Given the description of an element on the screen output the (x, y) to click on. 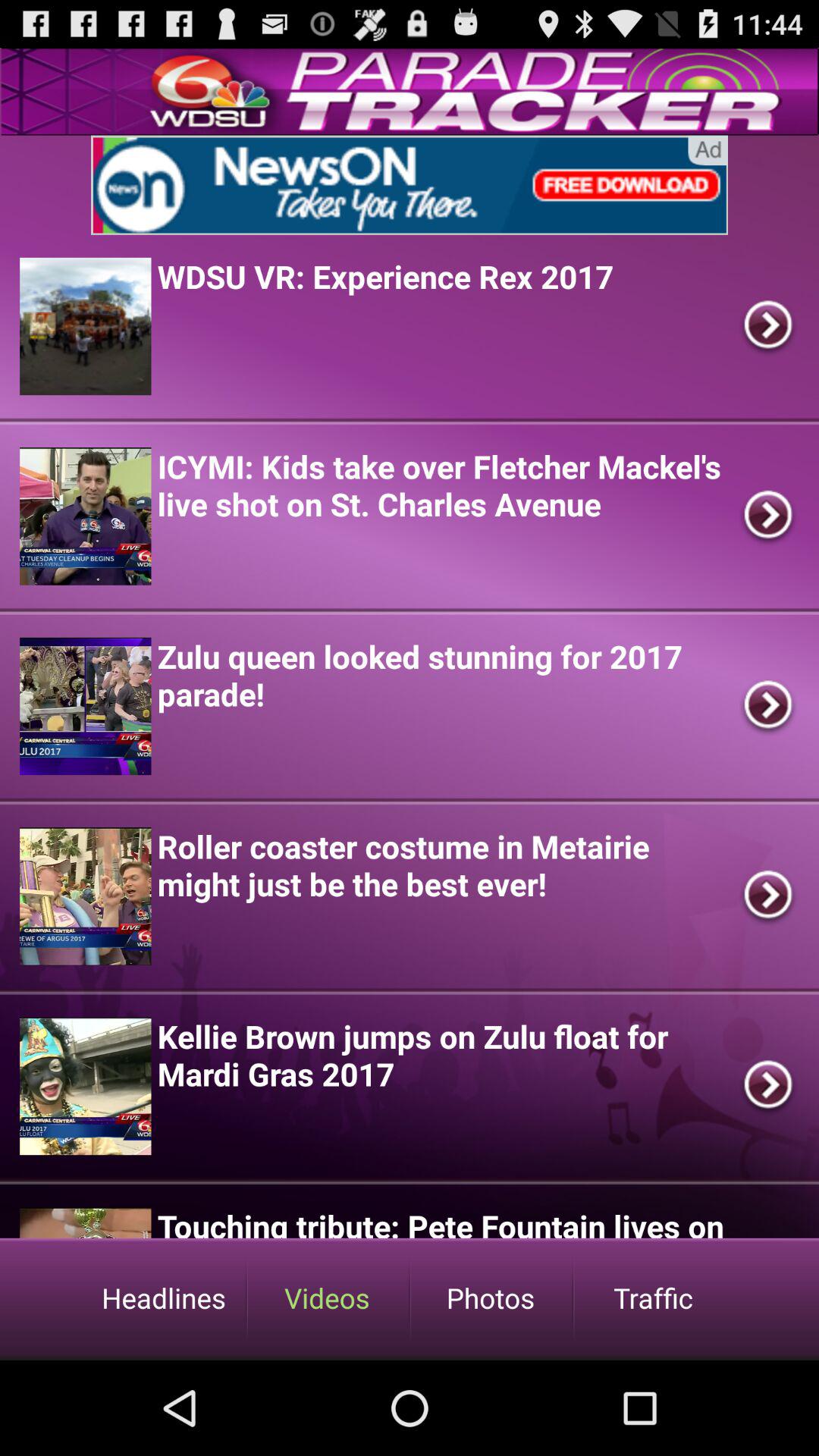
interact with advertisement (409, 184)
